Given the description of an element on the screen output the (x, y) to click on. 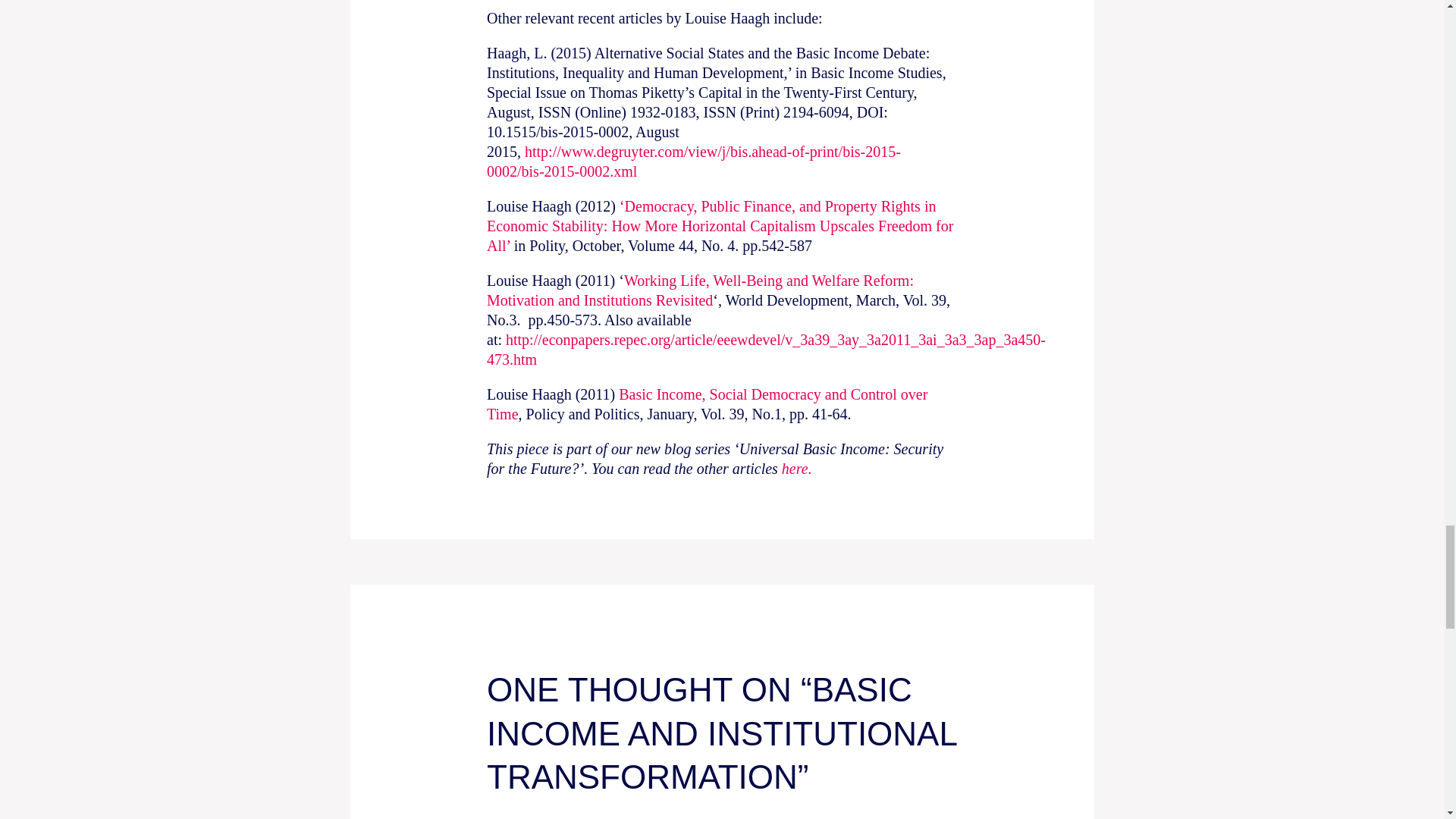
Basic Income, Social Democracy and Control over Time (706, 403)
here. (796, 468)
